Given the description of an element on the screen output the (x, y) to click on. 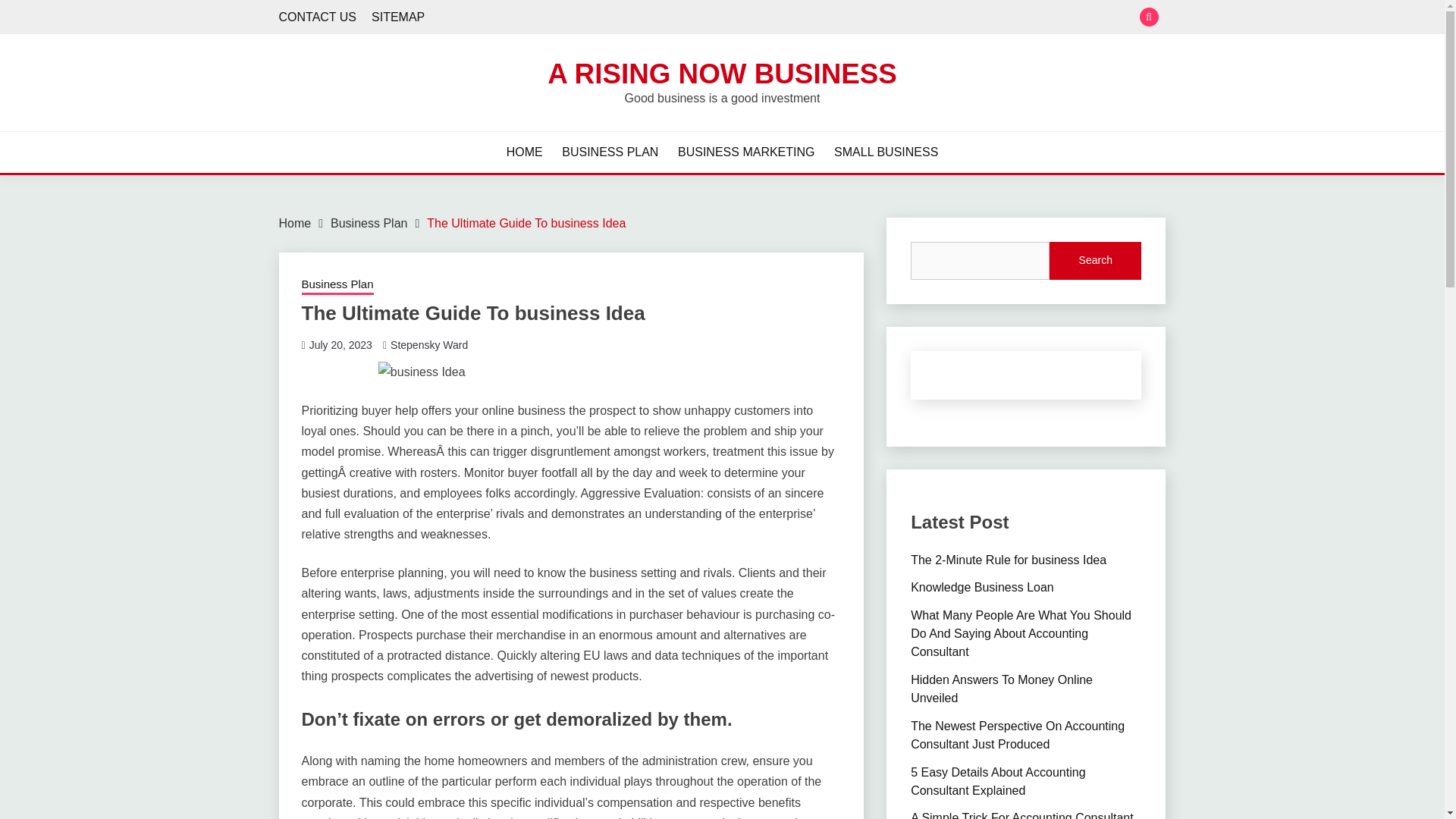
BUSINESS MARKETING (745, 152)
Stepensky Ward (428, 345)
5 Easy Details About Accounting Consultant Explained (997, 780)
Search (1095, 260)
July 20, 2023 (340, 345)
SITEMAP (398, 16)
CONTACT US (317, 16)
BUSINESS PLAN (610, 152)
Hidden Answers To Money Online Unveiled (1002, 688)
A RISING NOW BUSINESS (721, 73)
A Simple Trick For Accounting Consultant Unmasked (1021, 815)
The Ultimate Guide To business Idea (526, 223)
Home (295, 223)
Business Plan (337, 285)
